Given the description of an element on the screen output the (x, y) to click on. 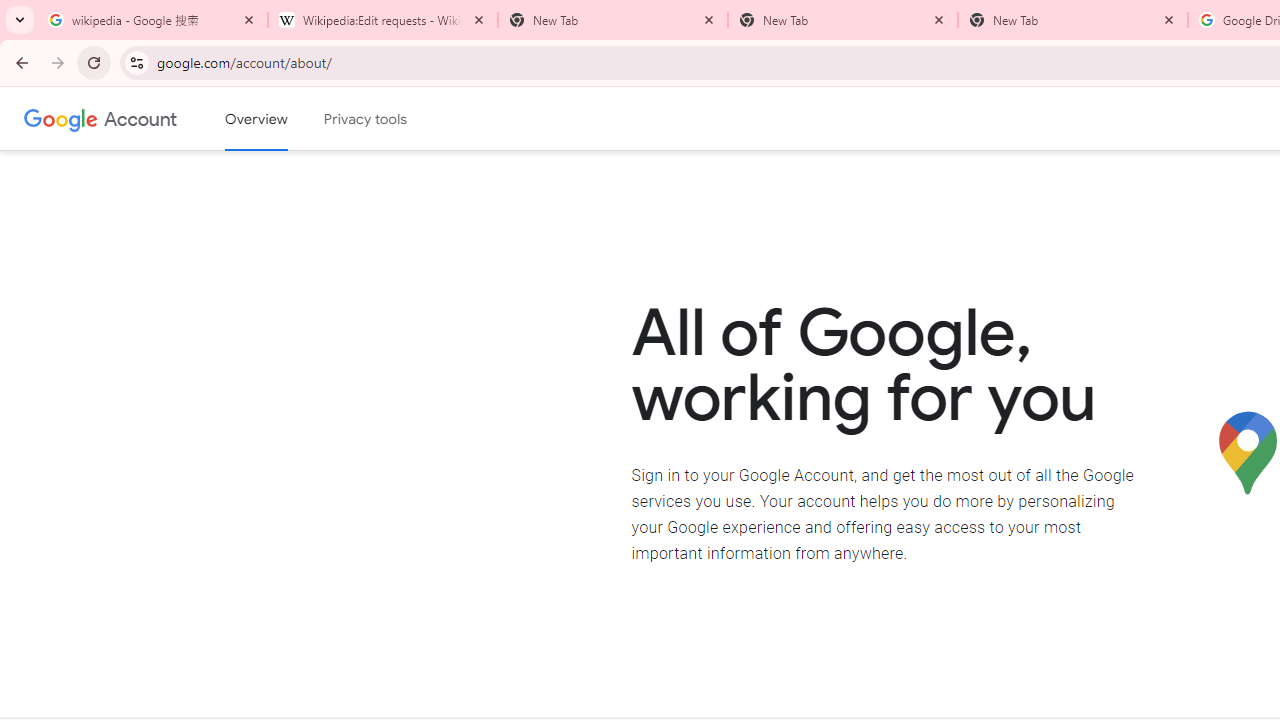
Skip to Content (285, 115)
Google Account overview (256, 119)
Google logo (61, 118)
Wikipedia:Edit requests - Wikipedia (382, 20)
Google Account (140, 118)
New Tab (842, 20)
